Given the description of an element on the screen output the (x, y) to click on. 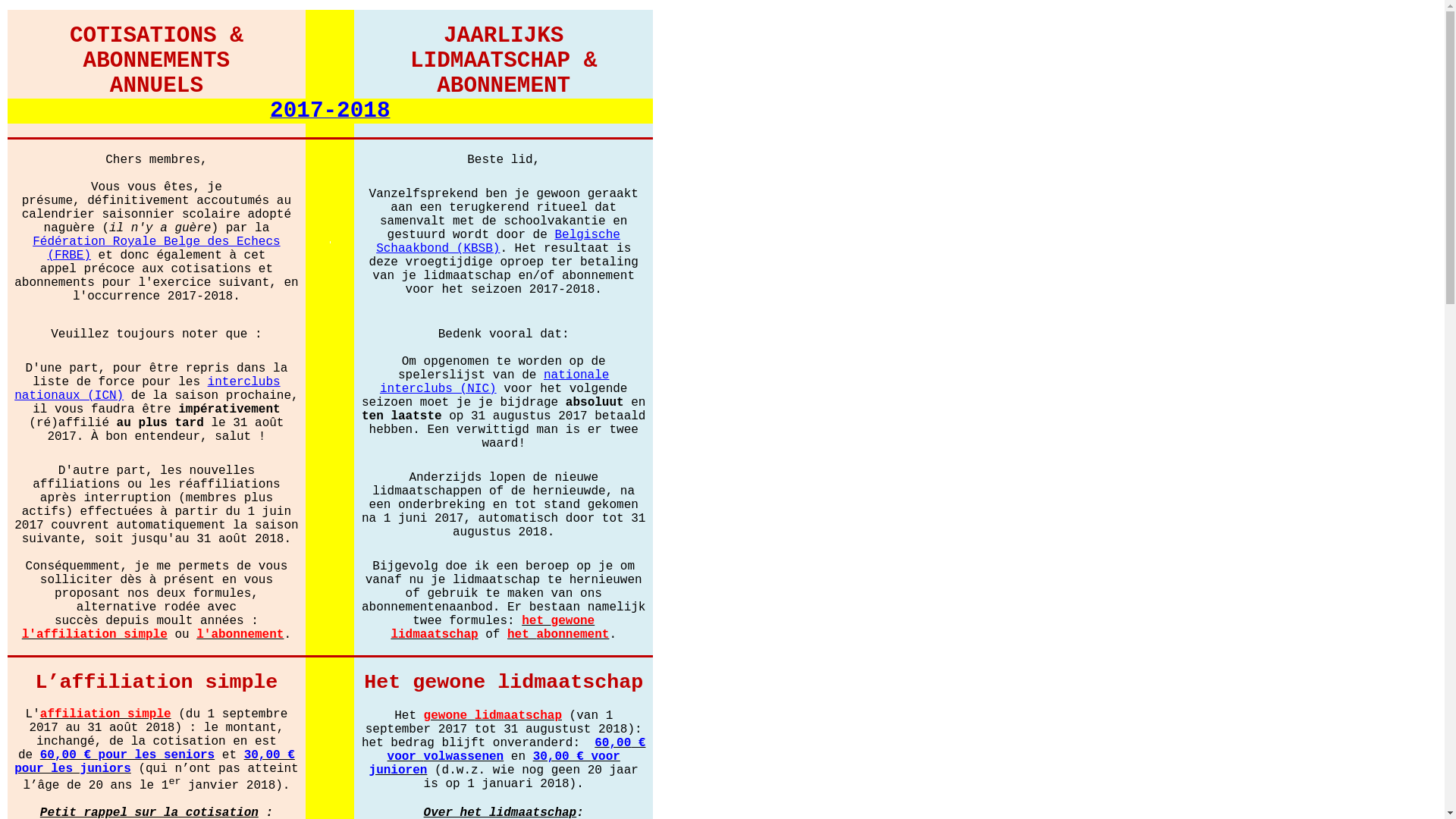
Belgische Schaakbond (KBSB) Element type: text (498, 240)
2017-2018 Element type: text (329, 112)
nationale interclubs (NIC) Element type: text (493, 380)
interclubs nationaux (ICN) Element type: text (146, 387)
